Given the description of an element on the screen output the (x, y) to click on. 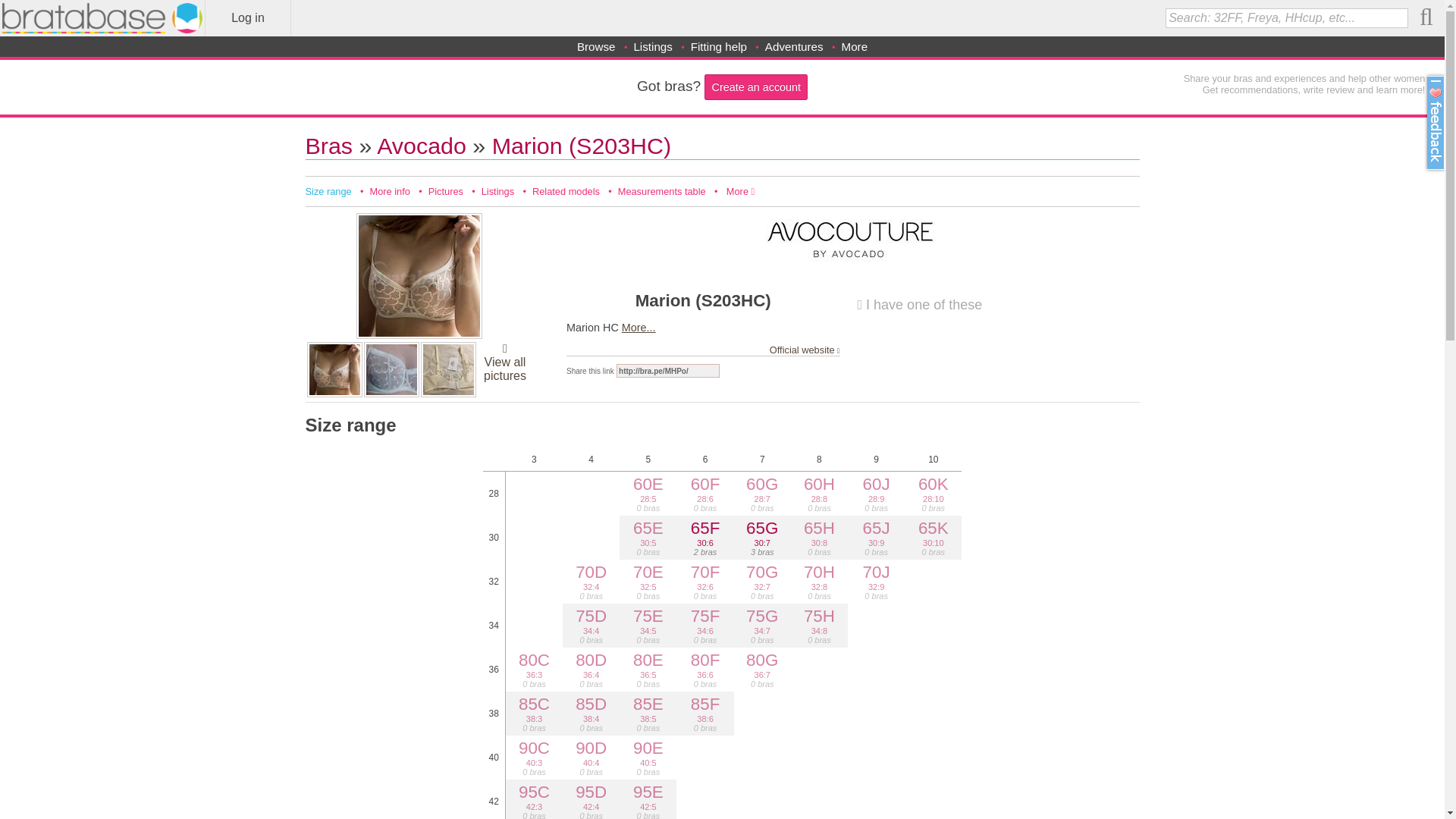
Avocado (421, 145)
View sizes measurements in a table (661, 191)
Bra fitting help (718, 46)
Related models (565, 191)
Avocado (421, 145)
Pictures (445, 191)
More... (638, 327)
More (740, 191)
Create an account in Bratabase (756, 86)
Listings (652, 46)
Bra adventures (794, 46)
Log in (247, 18)
Find bras by brand (595, 46)
Bratabase (102, 18)
More (854, 46)
